Given the description of an element on the screen output the (x, y) to click on. 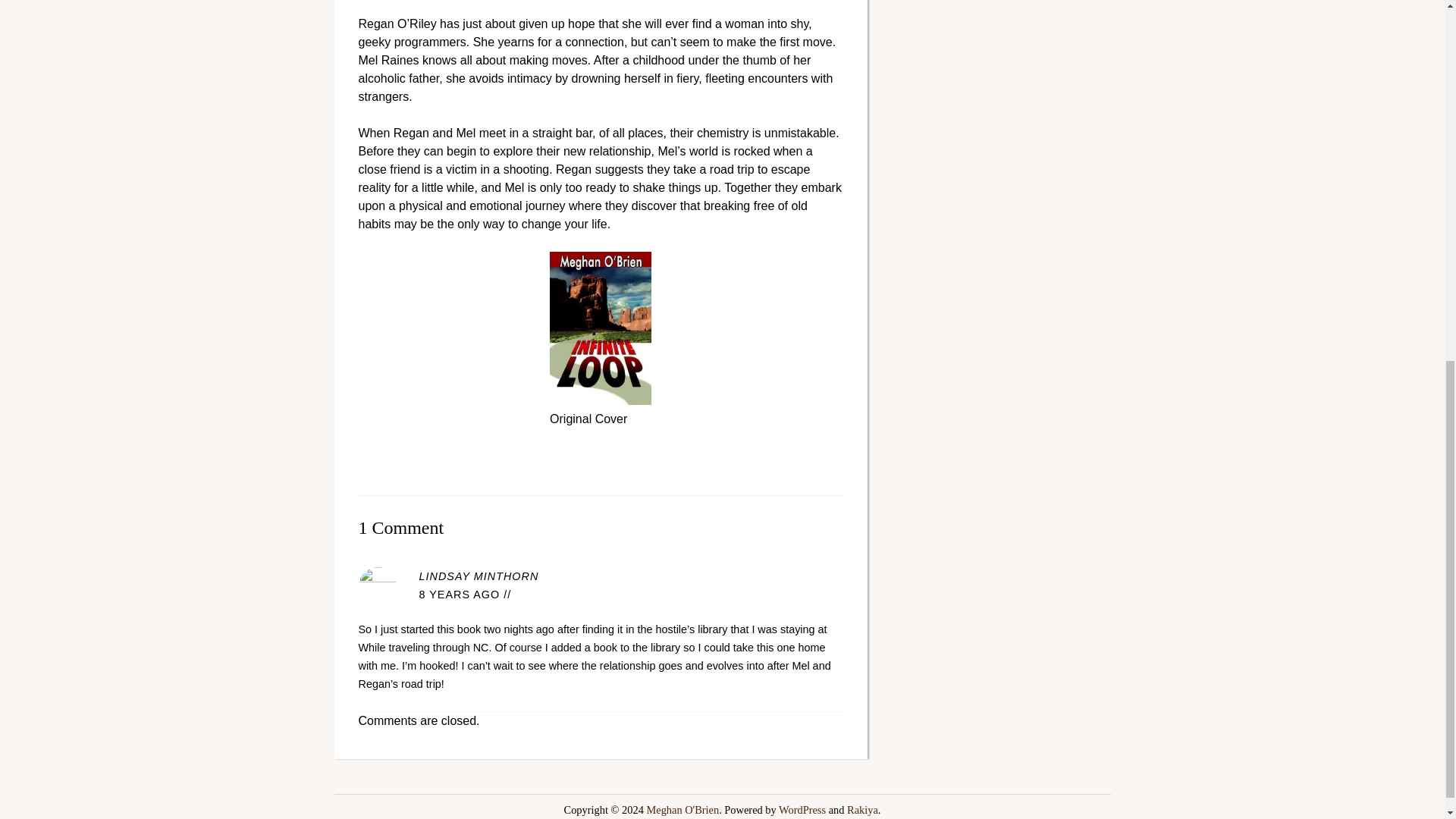
Monday, May 9, 2016, 5:08 pm (459, 594)
